Given the description of an element on the screen output the (x, y) to click on. 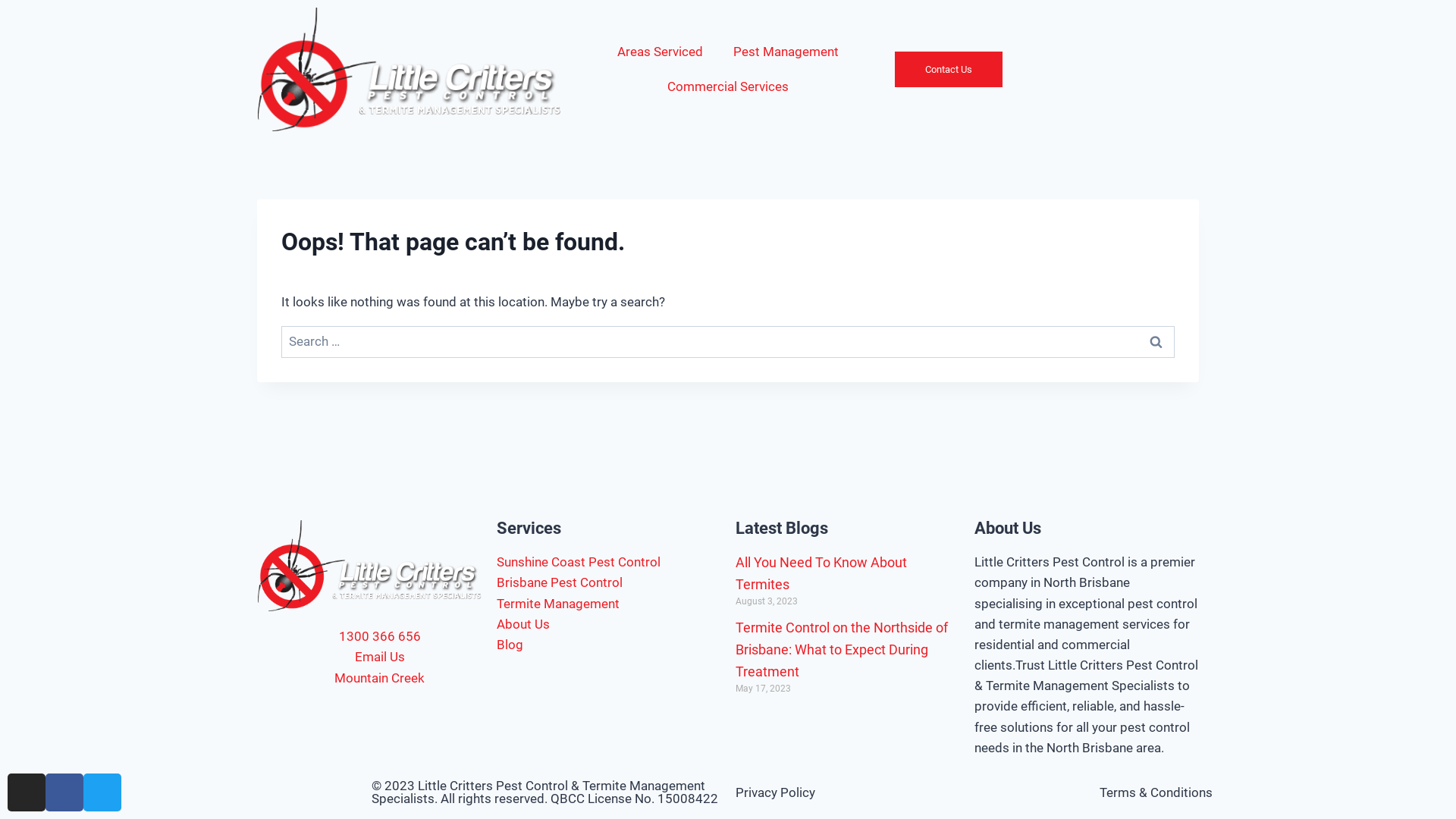
Terms & Conditions Element type: text (1155, 791)
Search Element type: text (1155, 342)
All You Need To Know About Termites Element type: text (820, 573)
Termite Management Element type: text (608, 603)
Privacy Policy Element type: text (775, 791)
Sunshine Coast Pest Control Element type: text (608, 562)
About Us Element type: text (608, 624)
Areas Serviced Element type: text (660, 51)
1300 366 656 Element type: text (369, 636)
Email Us Element type: text (369, 656)
Pest Management Element type: text (785, 51)
Contact Us Element type: text (948, 69)
Brisbane Pest Control Element type: text (608, 582)
Commercial Services Element type: text (727, 86)
Mountain Creek Element type: text (369, 678)
Blog Element type: text (608, 644)
